Given the description of an element on the screen output the (x, y) to click on. 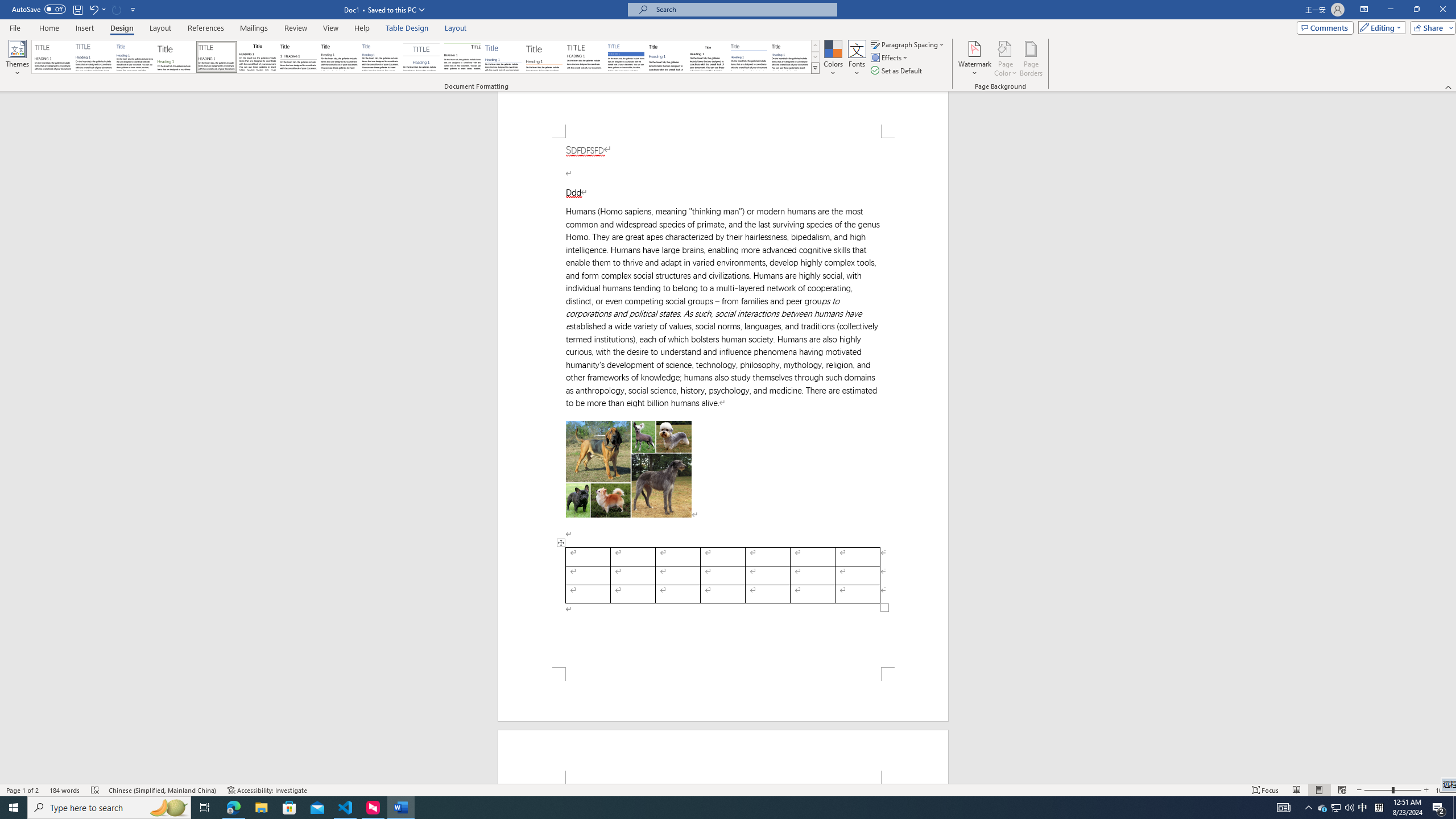
File Tab (15, 27)
System (6, 6)
Page 1 content (723, 402)
AutomationID: QuickStylesSets (425, 56)
Lines (Stylish) (544, 56)
Page Borders... (1031, 58)
Undo Apply Quick Style Set (92, 9)
Word 2010 (749, 56)
Effects (890, 56)
Watermark (974, 58)
Zoom (1392, 790)
Document (52, 56)
Style Set (814, 67)
Lines (Distinctive) (462, 56)
